Given the description of an element on the screen output the (x, y) to click on. 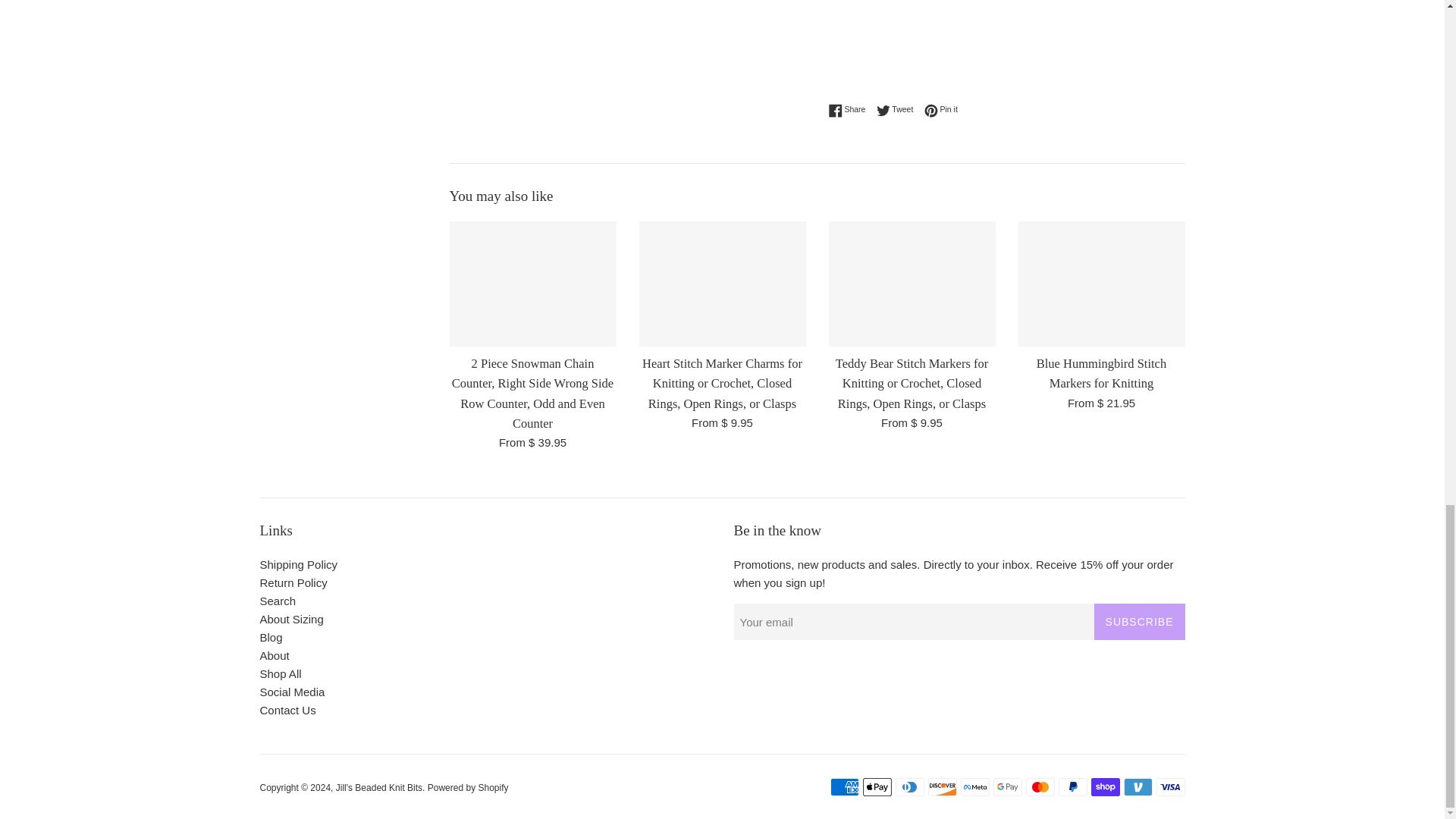
Pin on Pinterest (941, 110)
Blue Hummingbird Stitch Markers for Knitting (1101, 283)
PayPal (1072, 787)
Meta Pay (973, 787)
Discover (942, 787)
Share on Facebook (850, 110)
Shop Pay (1104, 787)
American Express (844, 787)
Mastercard (1039, 787)
